Given the description of an element on the screen output the (x, y) to click on. 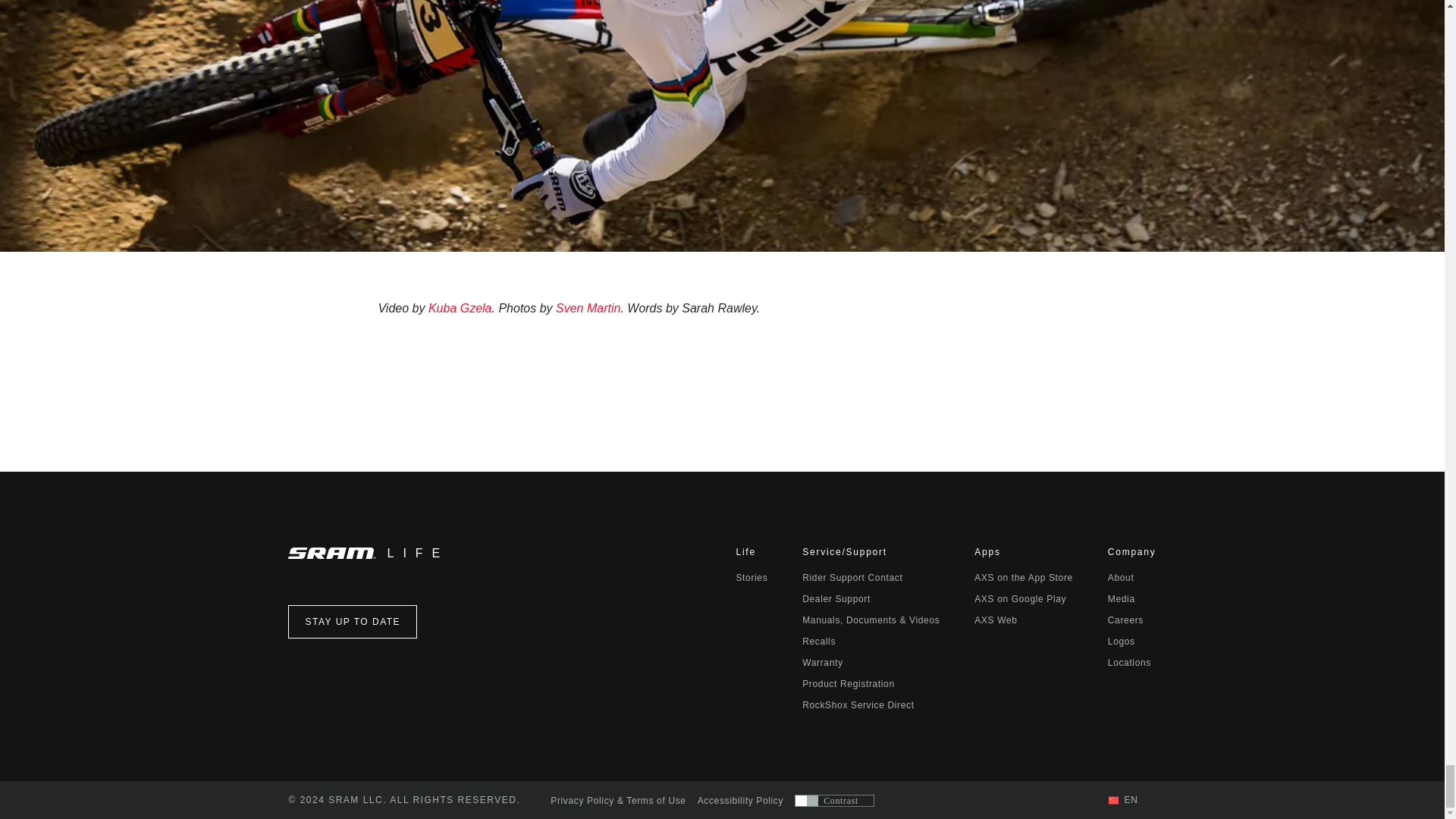
Dealer Support (836, 598)
Warranty (822, 662)
Product Registration (848, 683)
STAY UP TO DATE (352, 621)
Sven Martin (588, 308)
Stories (751, 577)
Kuba Gzela (460, 308)
Rider Support Contact (852, 577)
Recalls (818, 641)
